Given the description of an element on the screen output the (x, y) to click on. 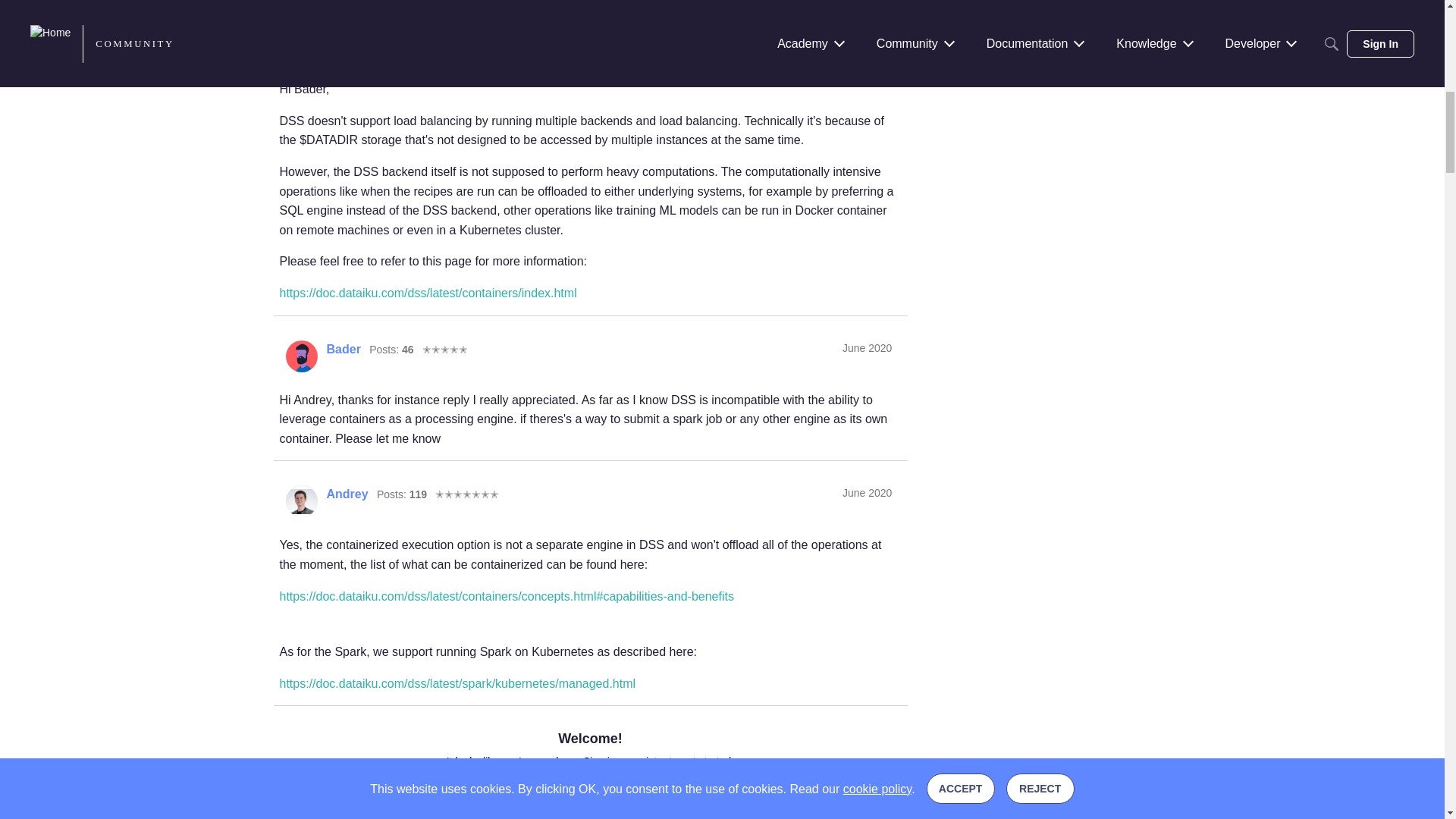
Sign In (541, 795)
Level 5 (444, 348)
June 18, 2020 3:01PM (867, 37)
June 18, 2020 8:29PM (867, 492)
Andrey (301, 45)
Bader (301, 356)
June 18, 2020 6:10PM (867, 347)
Andrey (301, 500)
Level 7 (467, 38)
Level 7 (467, 493)
